Given the description of an element on the screen output the (x, y) to click on. 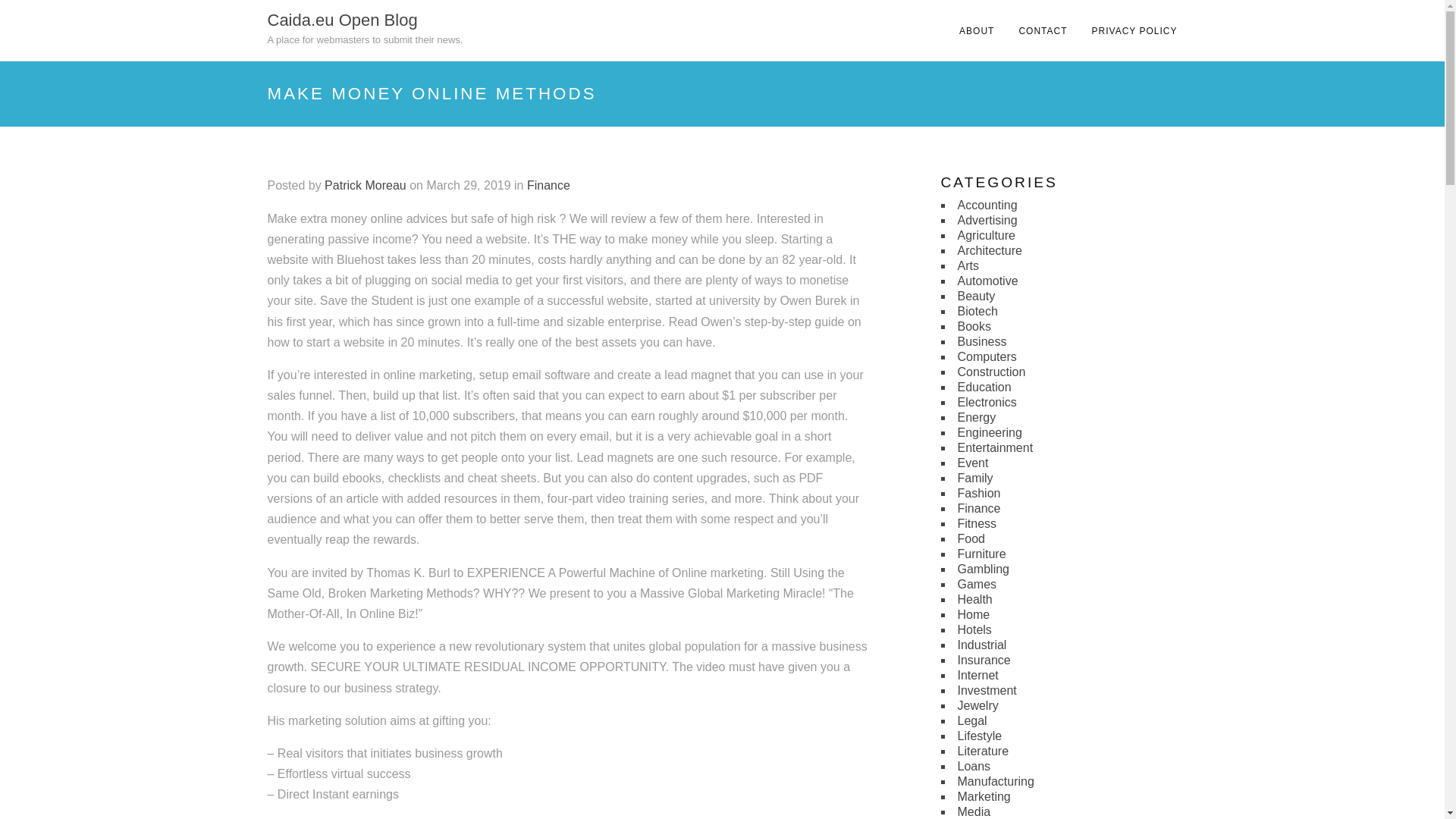
Construction (990, 371)
Event (972, 462)
Energy (975, 417)
Gambling (982, 568)
Entertainment (994, 447)
PRIVACY POLICY (1134, 30)
Business (981, 341)
Education (983, 386)
Accounting (986, 205)
Caida.eu Open Blog (341, 19)
ABOUT (976, 30)
Engineering (989, 431)
CONTACT (1042, 30)
Architecture (989, 250)
Food (970, 538)
